Given the description of an element on the screen output the (x, y) to click on. 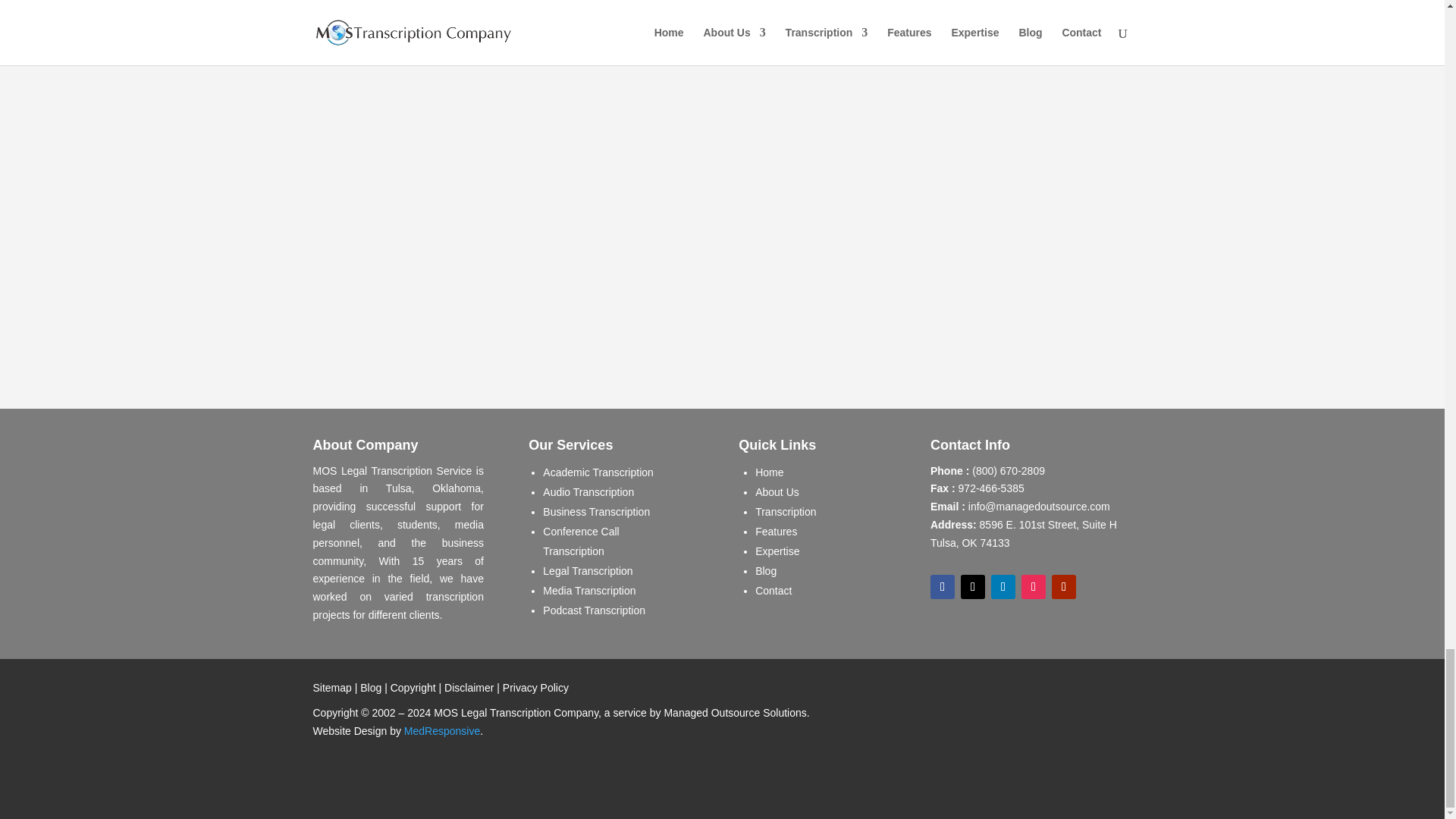
Academic Transcription (598, 472)
